Given the description of an element on the screen output the (x, y) to click on. 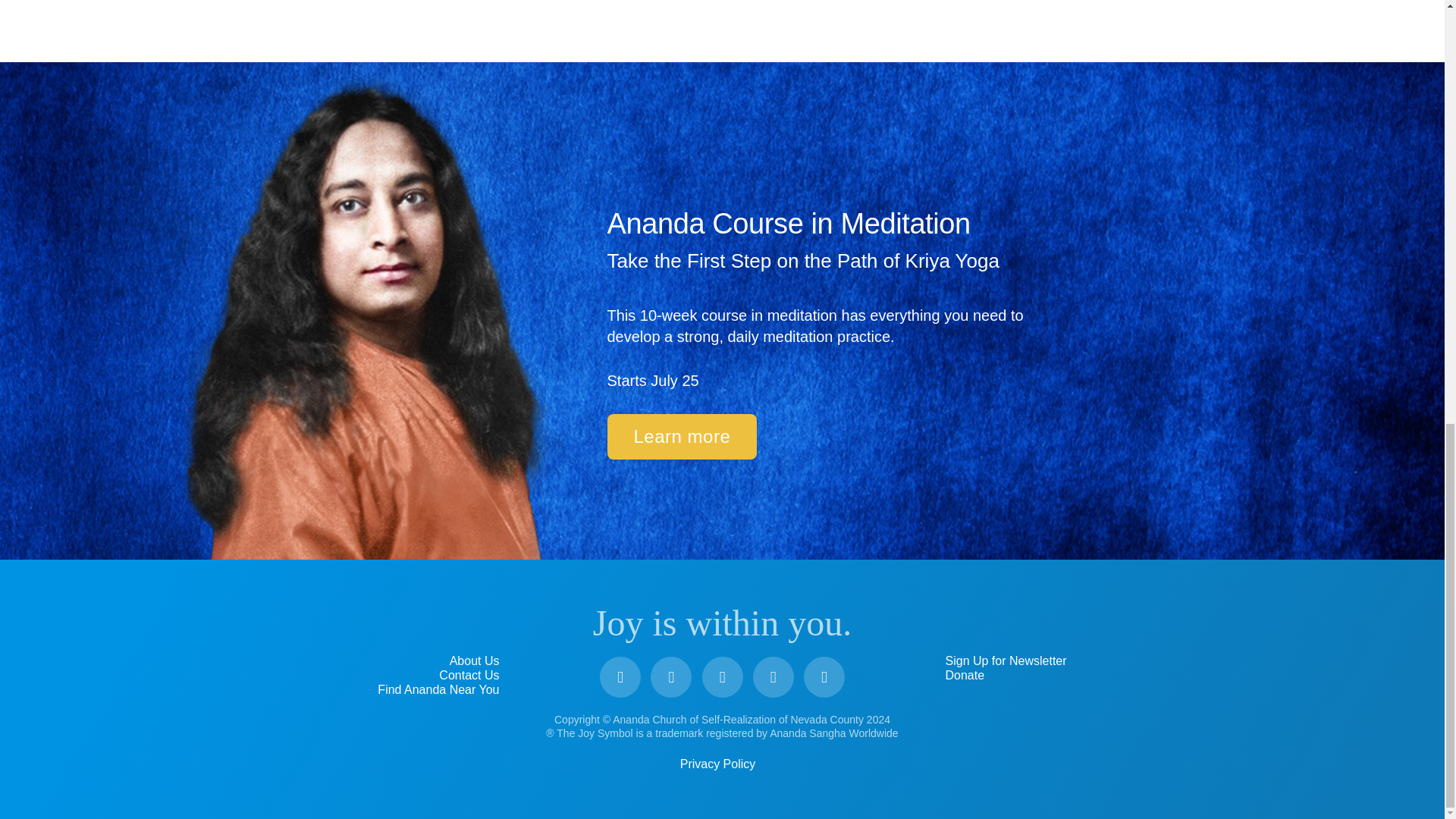
Facebook (619, 676)
RSS (823, 676)
YouTube (670, 676)
Instagram (721, 676)
Pinterest (772, 676)
